Given the description of an element on the screen output the (x, y) to click on. 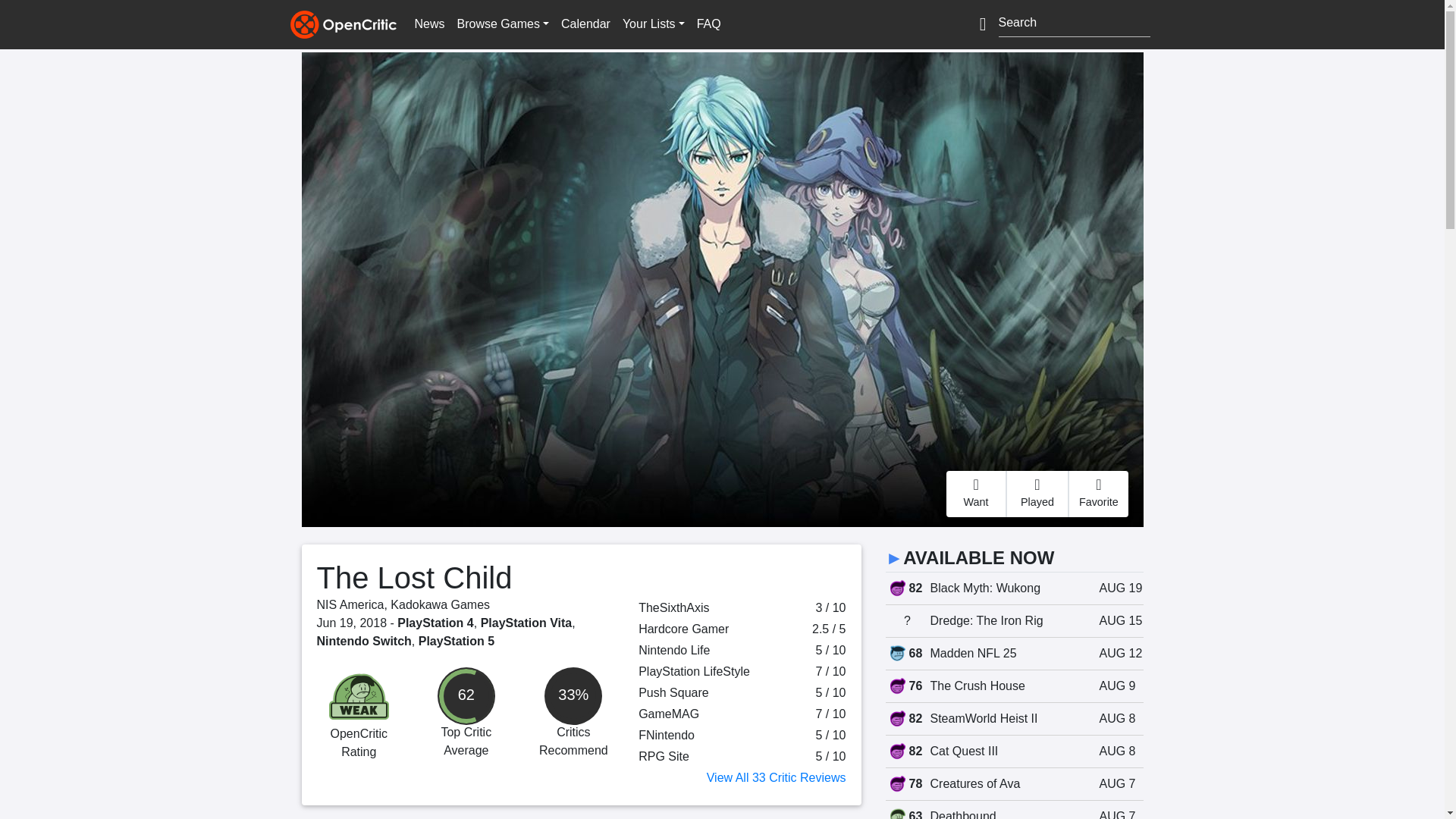
Calendar (584, 24)
Your Lists (652, 24)
FAQ (708, 24)
View All 33 Critic Reviews (775, 777)
Browse Games (502, 24)
News (428, 24)
